Given the description of an element on the screen output the (x, y) to click on. 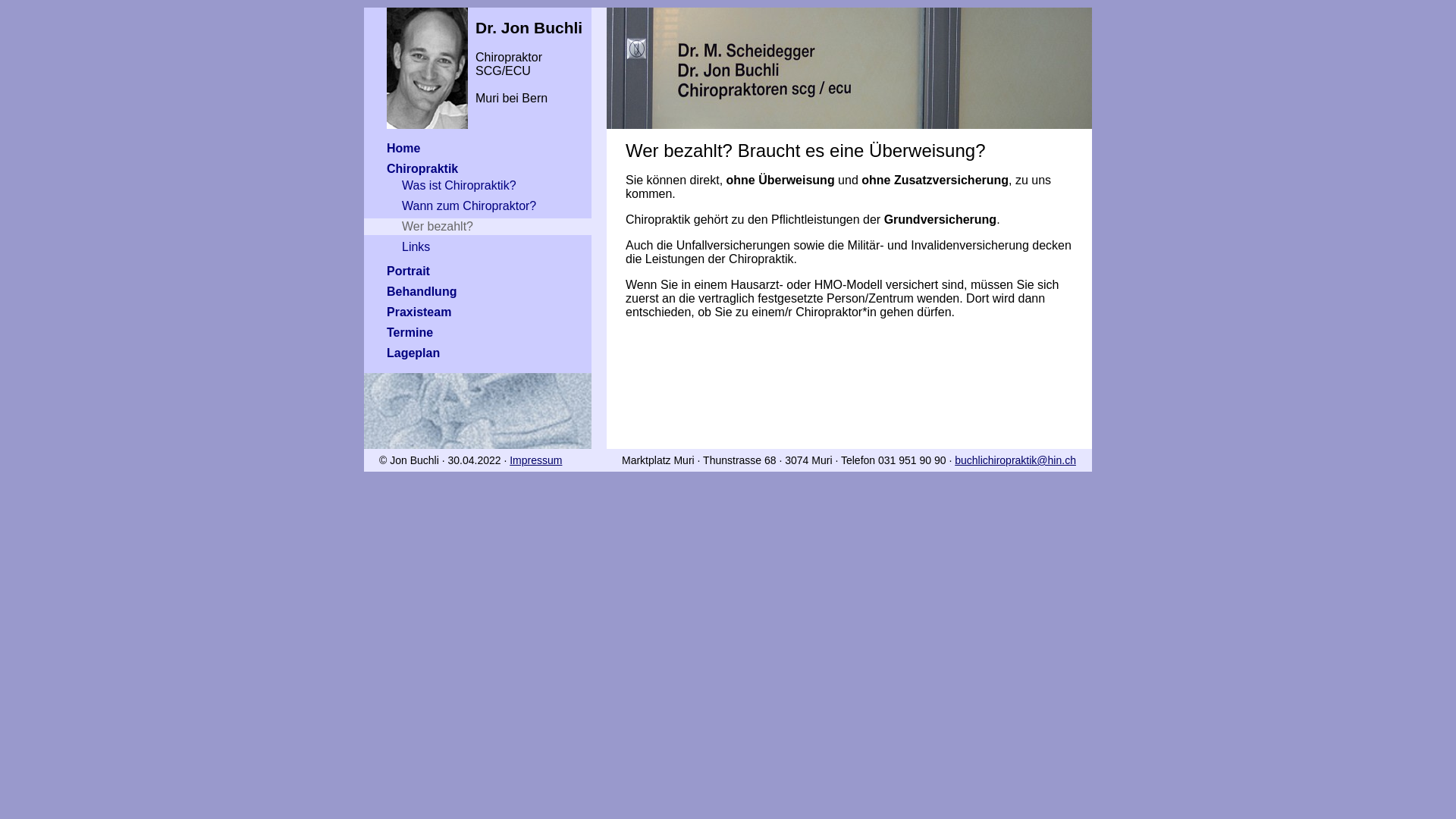
Wann zum Chiropraktor? Element type: text (477, 205)
Lageplan Element type: text (477, 353)
Dr. Jon Buchli

Chiropraktor SCG/ECU

Muri bei Bern Element type: text (477, 55)
Praxisteam Element type: text (477, 312)
buchlichiropraktik@hin.ch Element type: text (1015, 460)
Portrait Element type: text (477, 271)
031 951 90 90 Element type: text (912, 460)
Behandlung Element type: text (477, 291)
Impressum Element type: text (535, 460)
Links Element type: text (477, 246)
Chiropraktik Element type: text (477, 168)
Termine Element type: text (477, 332)
Home Element type: text (477, 148)
Was ist Chiropraktik? Element type: text (477, 185)
